Given the description of an element on the screen output the (x, y) to click on. 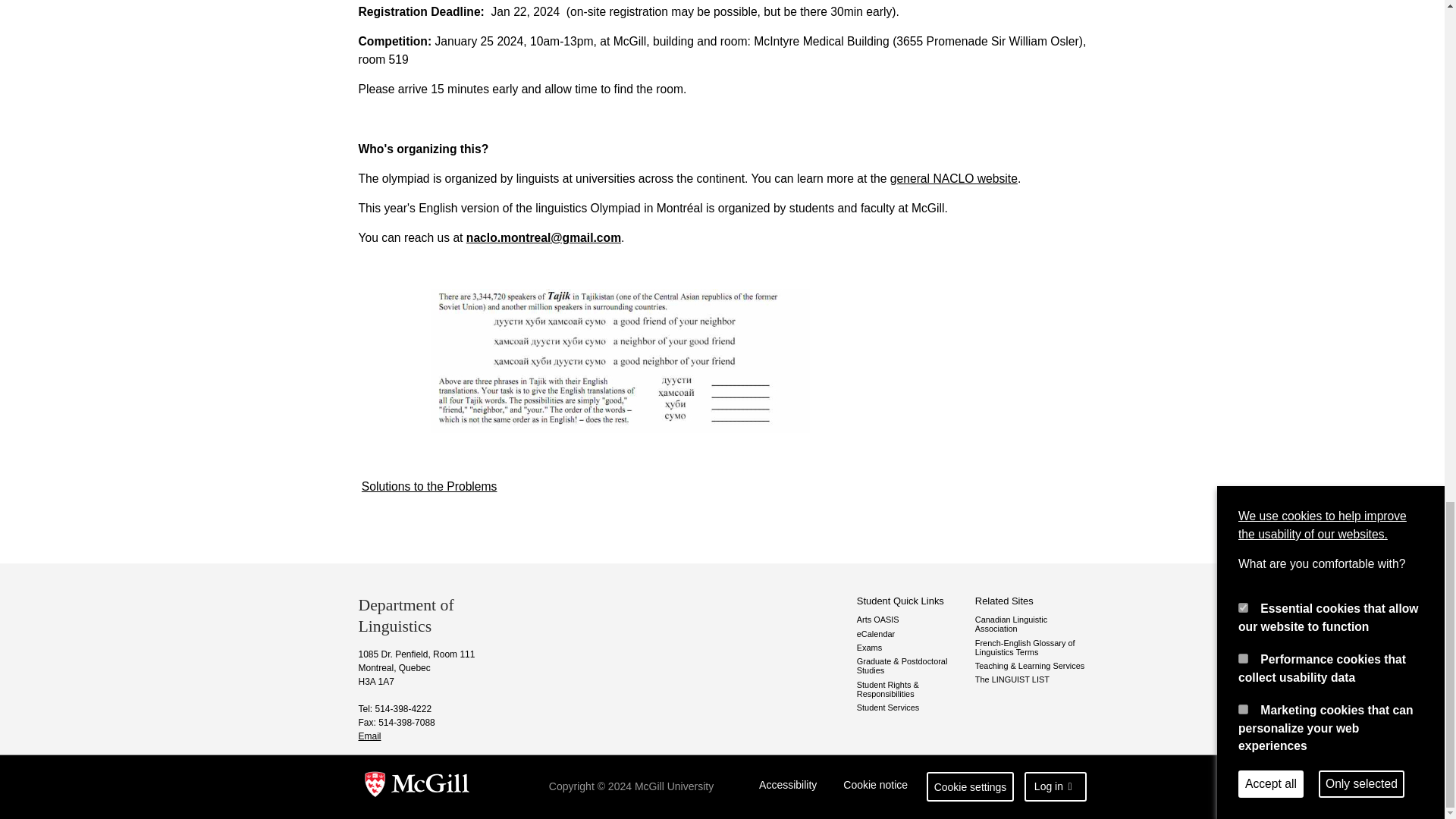
Cookie notice (875, 786)
eCalendar (912, 633)
Canadian Linguistic Association (1030, 624)
Solutions to the Problems (429, 485)
Email (369, 736)
French-English Glossary of Linguistics Terms (1030, 647)
Accessibility (788, 786)
Tajik (619, 361)
Exams (912, 646)
The LINGUIST LIST (1030, 678)
